Given the description of an element on the screen output the (x, y) to click on. 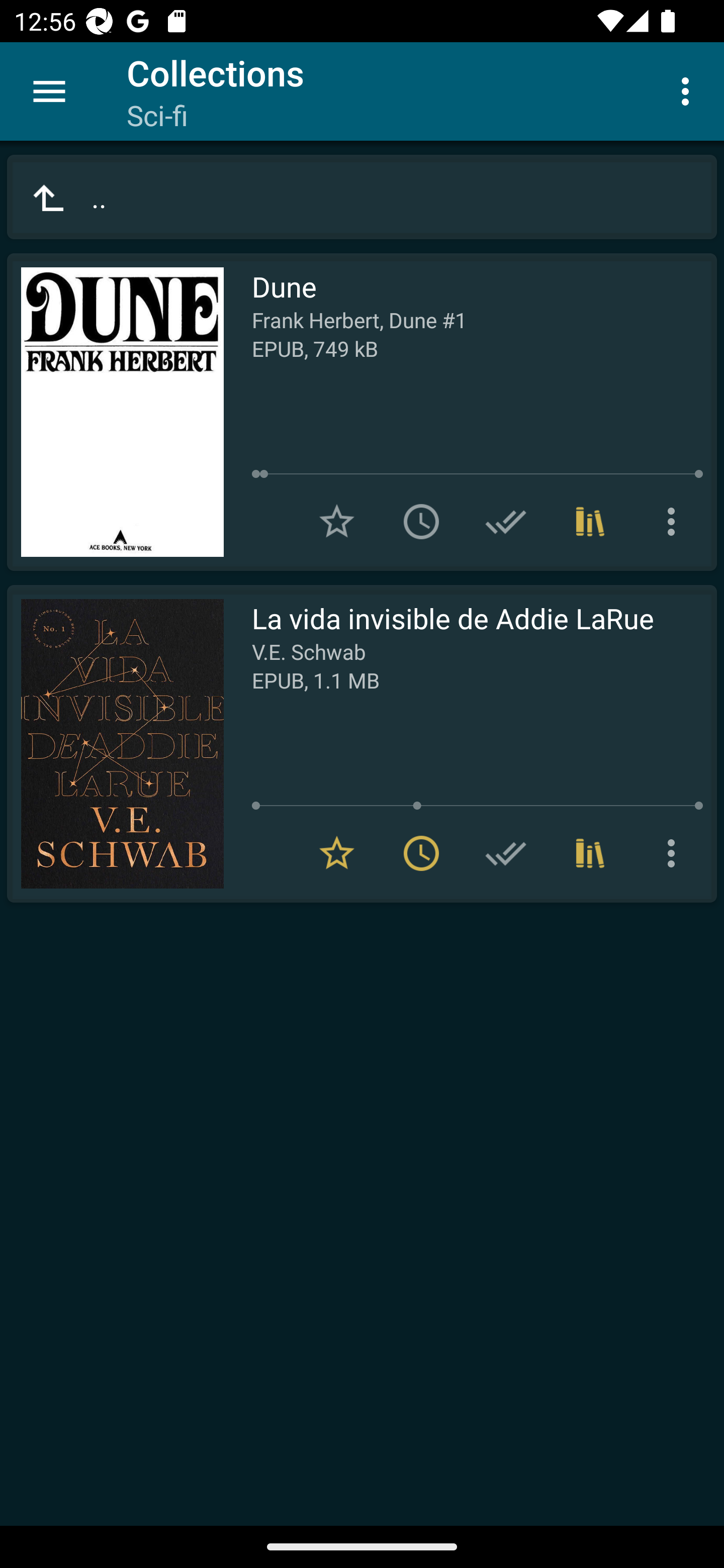
Menu (49, 91)
More options (688, 90)
.. (361, 197)
Read Dune (115, 412)
Add to Favorites (336, 521)
Add to To read (421, 521)
Add to Have read (505, 521)
Collections (1) (590, 521)
More options (674, 521)
Read La vida invisible de Addie LaRue (115, 743)
Remove from Favorites (336, 852)
Remove from To read (421, 852)
Add to Have read (505, 852)
Collections (1) (590, 852)
More options (674, 852)
